Given the description of an element on the screen output the (x, y) to click on. 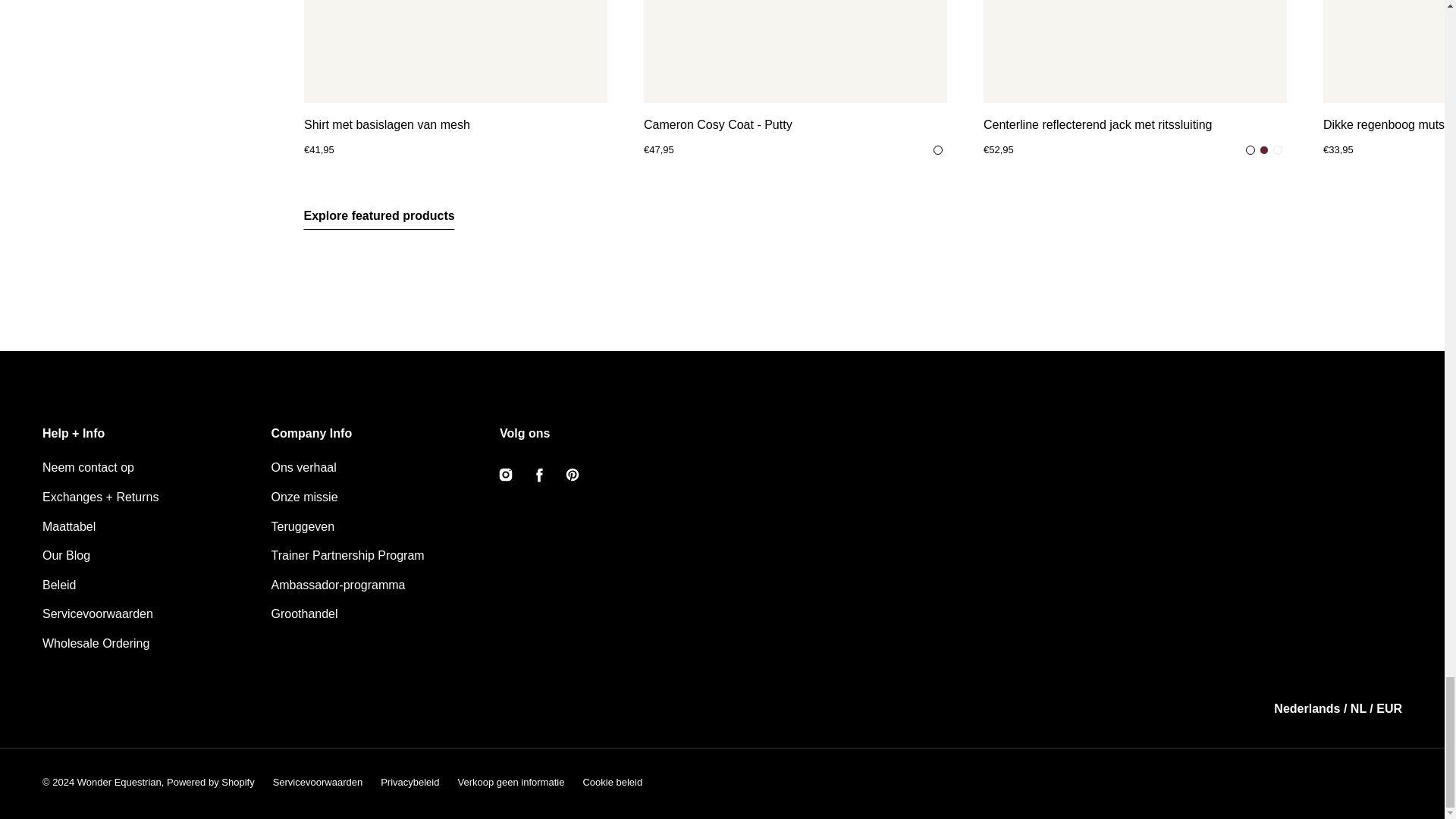
Cameron Cosy Coat - Putty (794, 51)
Shirt met basislagen van mesh (454, 125)
Shirt met basislagen van mesh (454, 51)
Cameron Cosy Coat - Putty (794, 125)
Centerline reflecterend jack met ritssluiting (1133, 51)
Centerline reflecterend jack met ritssluiting (1133, 125)
